Given the description of an element on the screen output the (x, y) to click on. 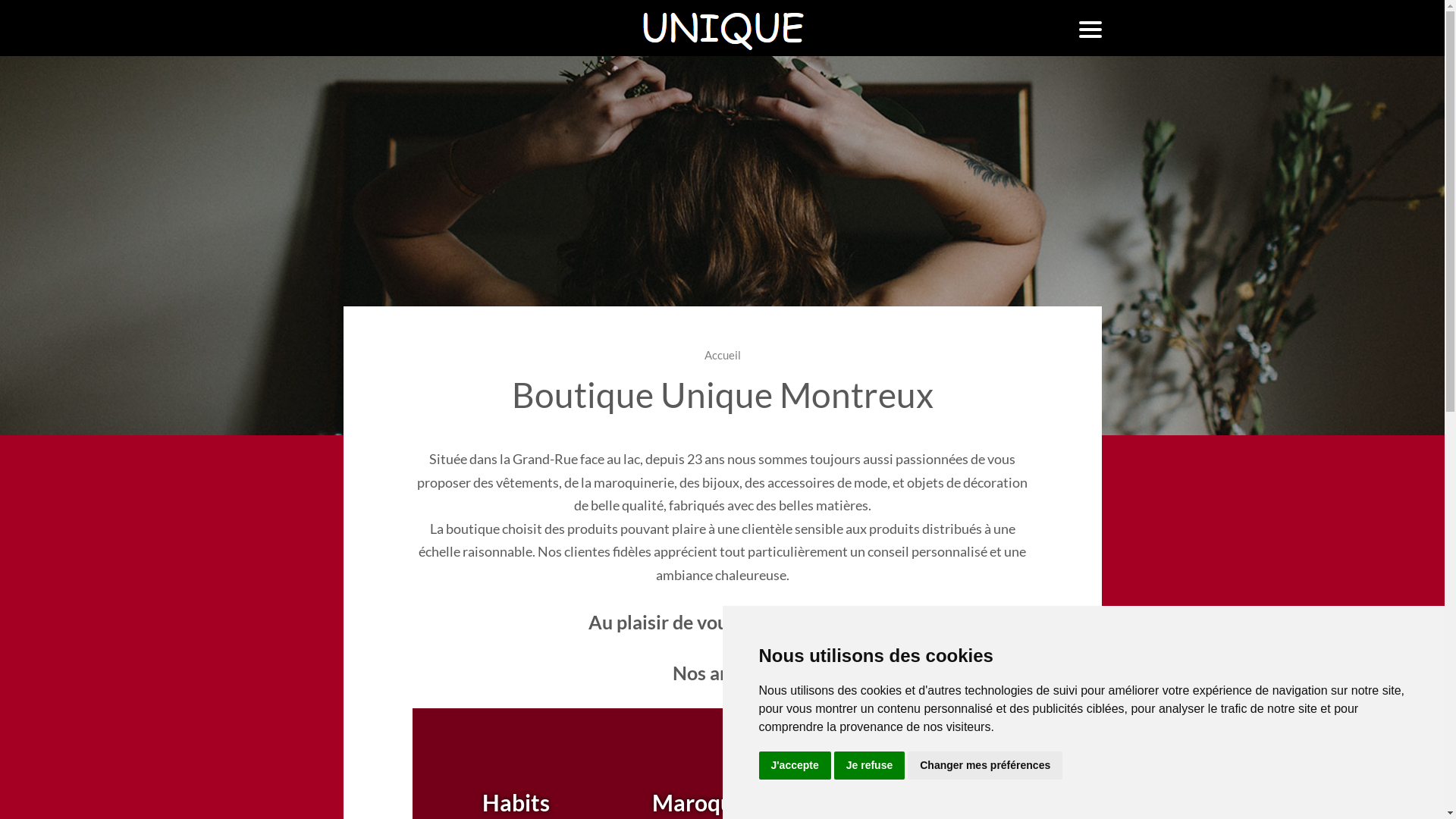
J'accepte Element type: text (794, 765)
Accueil Element type: text (721, 354)
Je refuse Element type: text (869, 765)
